Given the description of an element on the screen output the (x, y) to click on. 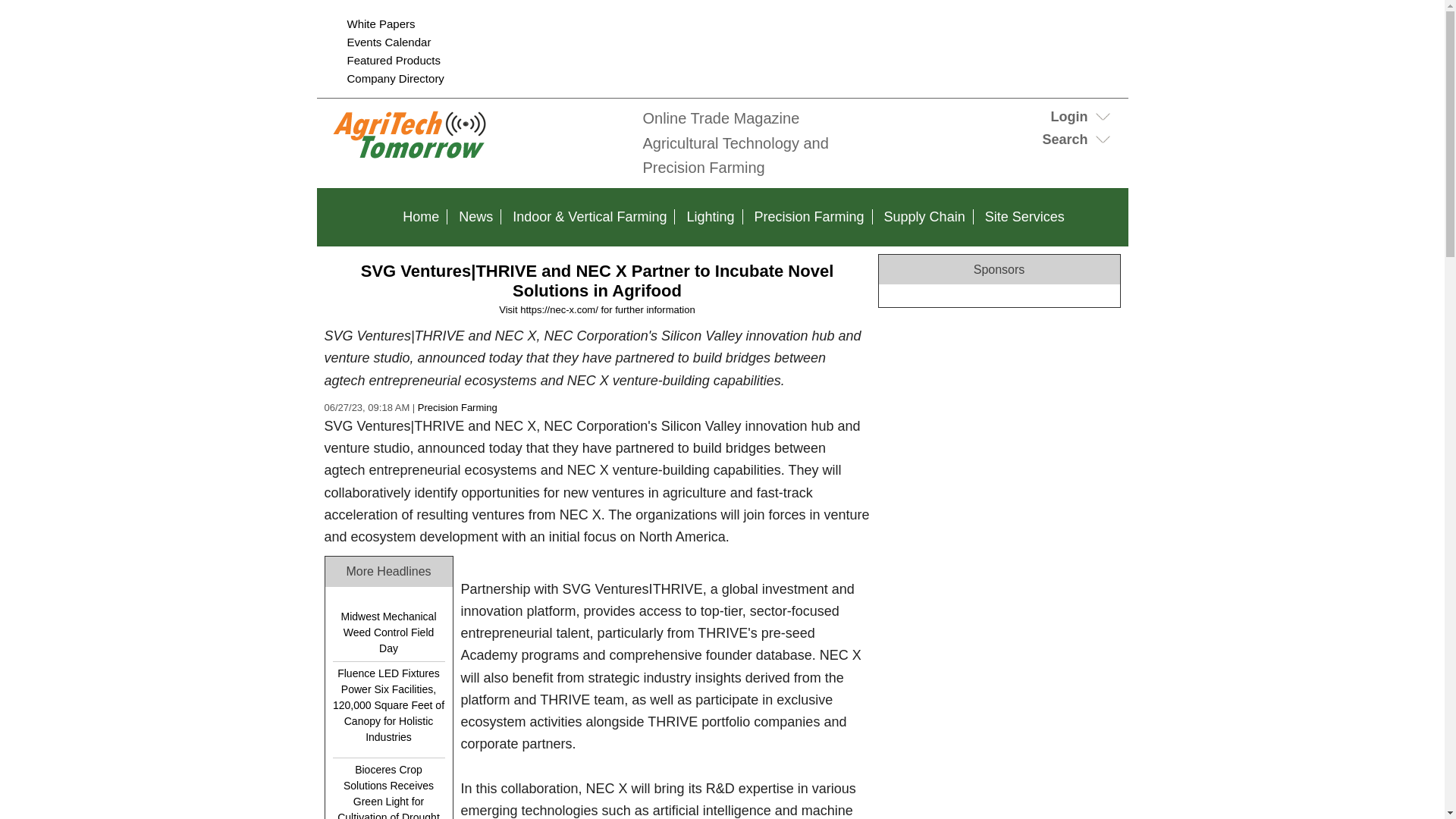
Precision Farming (457, 407)
Supply Chain (924, 217)
AgriTechTomorrow (475, 159)
Home (420, 217)
White Papers (380, 23)
Lighting (709, 217)
Midwest Mechanical Weed Control Field Day (387, 632)
News (475, 217)
